Given the description of an element on the screen output the (x, y) to click on. 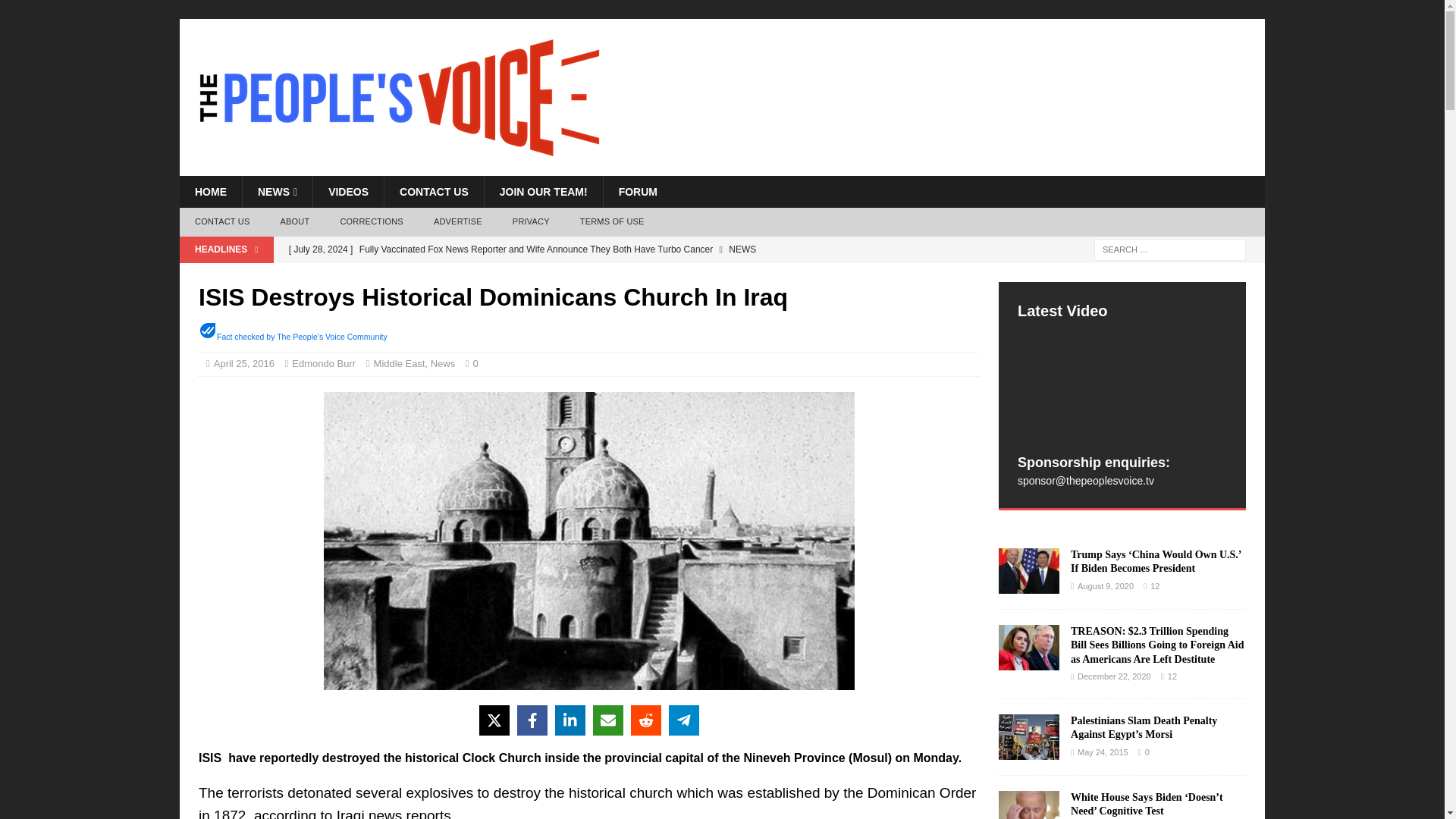
NEWS (277, 192)
CONTACT US (221, 222)
CORRECTIONS (370, 222)
VIDEOS (348, 192)
CONTACT US (433, 192)
ADVERTISE (458, 222)
HOME (210, 192)
PRIVACY (530, 222)
FORUM (637, 192)
TERMS OF USE (611, 222)
ABOUT (294, 222)
JOIN OUR TEAM! (542, 192)
